Given the description of an element on the screen output the (x, y) to click on. 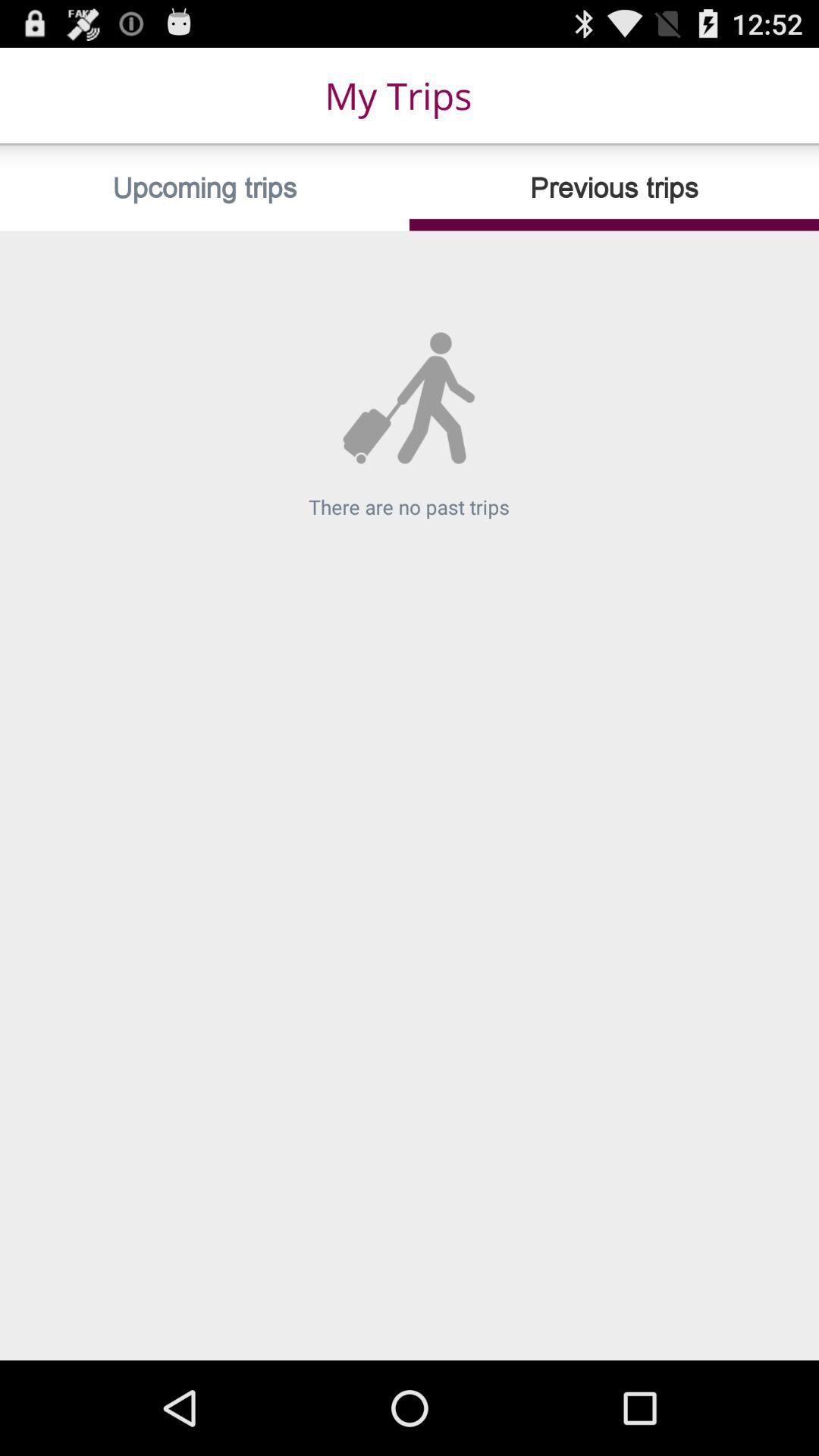
select item to the left of the previous trips icon (204, 187)
